Given the description of an element on the screen output the (x, y) to click on. 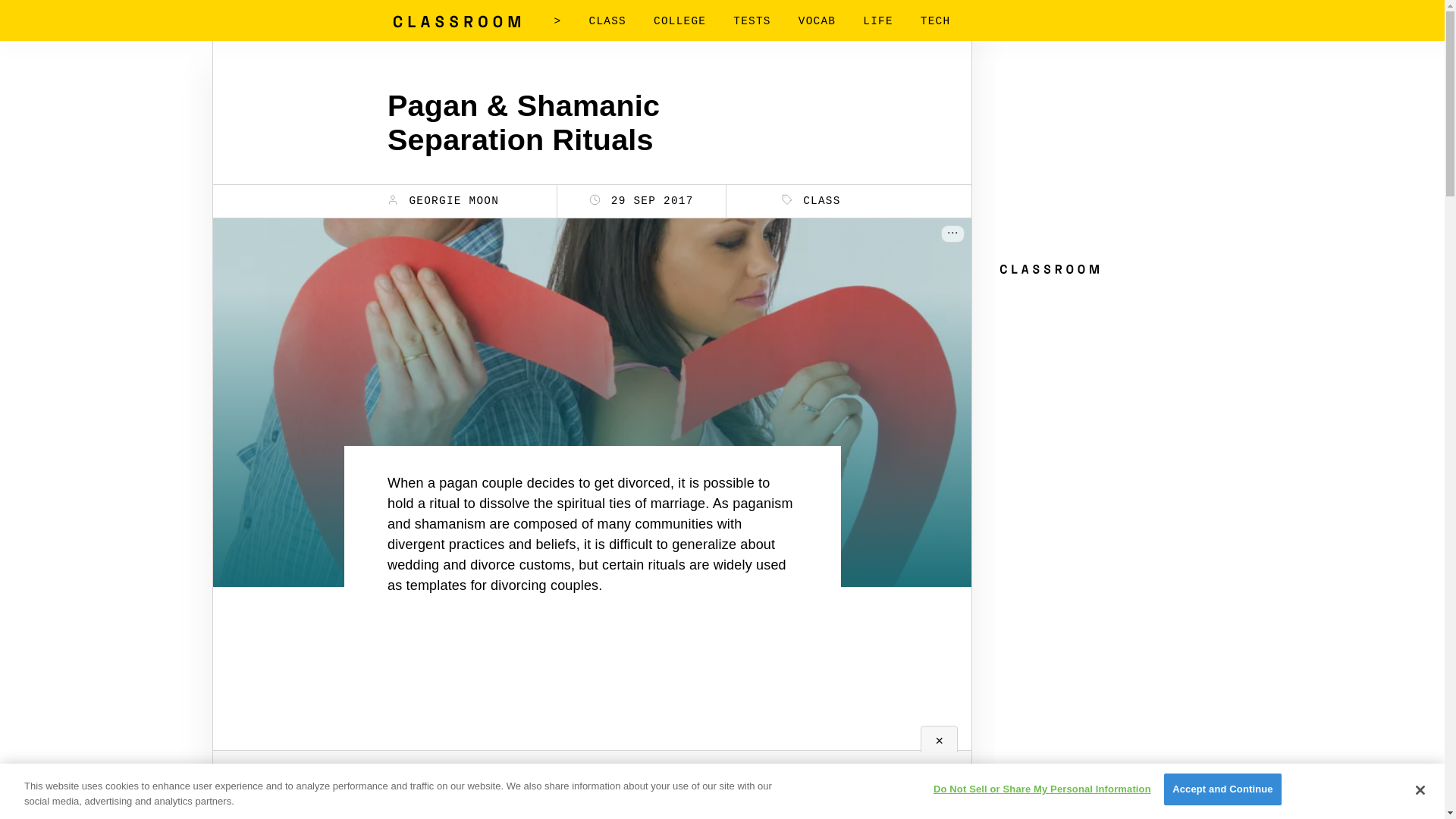
3rd party ad content (591, 684)
VOCAB (816, 21)
3rd party ad content (1108, 158)
COLLEGE (679, 21)
TECH (935, 21)
CLASS (811, 200)
LIFE (878, 21)
TESTS (751, 21)
3rd party ad content (1108, 376)
CLASS (607, 21)
